Given the description of an element on the screen output the (x, y) to click on. 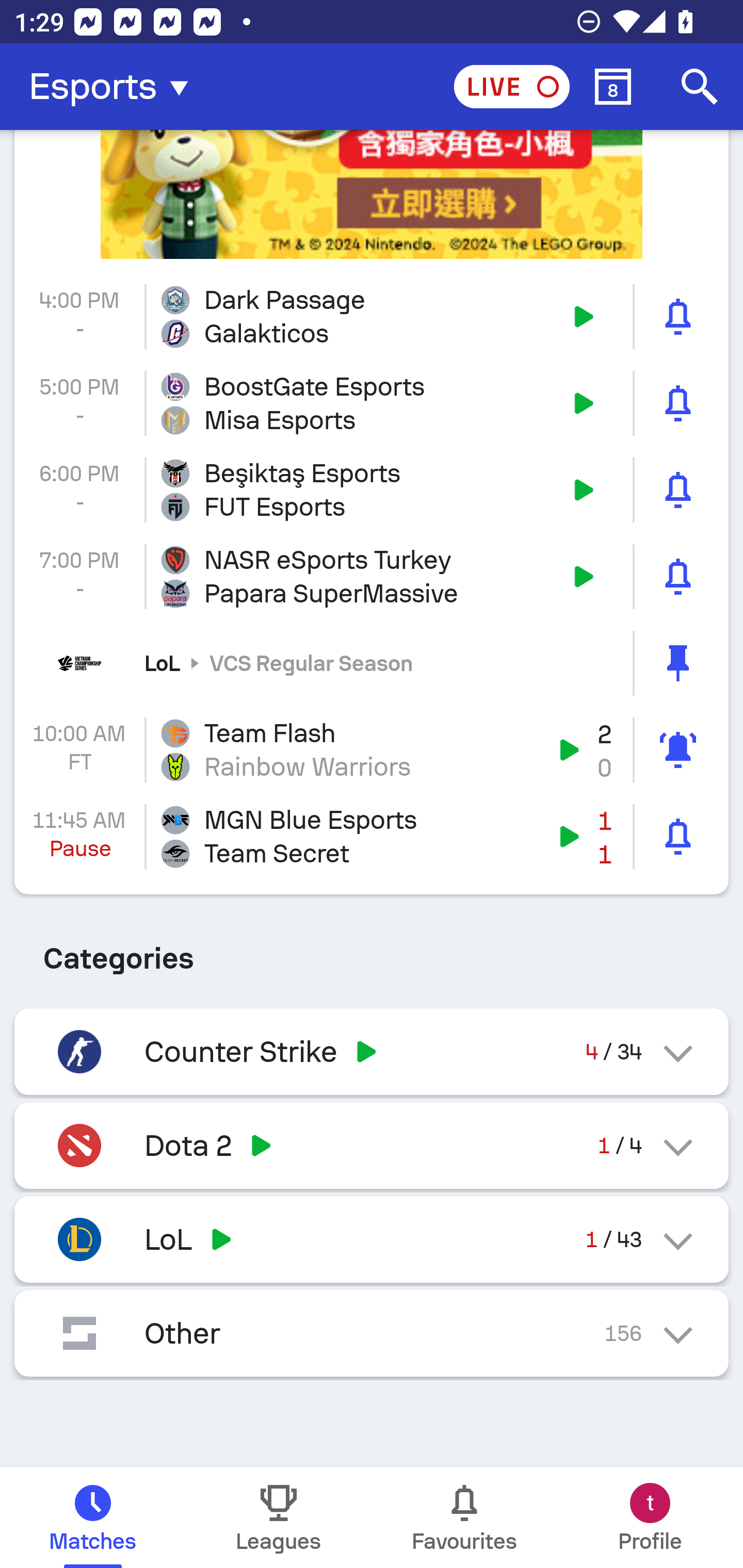
Esports (114, 86)
Calendar (612, 86)
Search (699, 86)
j1n8f1jr_300x250 (371, 194)
4:00 PM - Dark Passage Galakticos (371, 316)
5:00 PM - BoostGate Esports Misa Esports (371, 403)
6:00 PM - Beşiktaş Esports FUT Esports (371, 489)
7:00 PM - NASR eSports Turkey Papara SuperMassive (371, 576)
LoL VCS Regular Season (371, 663)
10:00 AM FT Team Flash Rainbow Warriors 2 0 (371, 750)
11:45 AM Pause MGN Blue Esports Team Secret 1 1 (371, 836)
Categories (371, 951)
Counter Strike 4 / 34 (371, 1051)
Dota 2 1 / 4 (371, 1145)
LoL 1 / 43 (371, 1239)
Other 156 (371, 1333)
Leagues (278, 1517)
Favourites (464, 1517)
Profile (650, 1517)
